Given the description of an element on the screen output the (x, y) to click on. 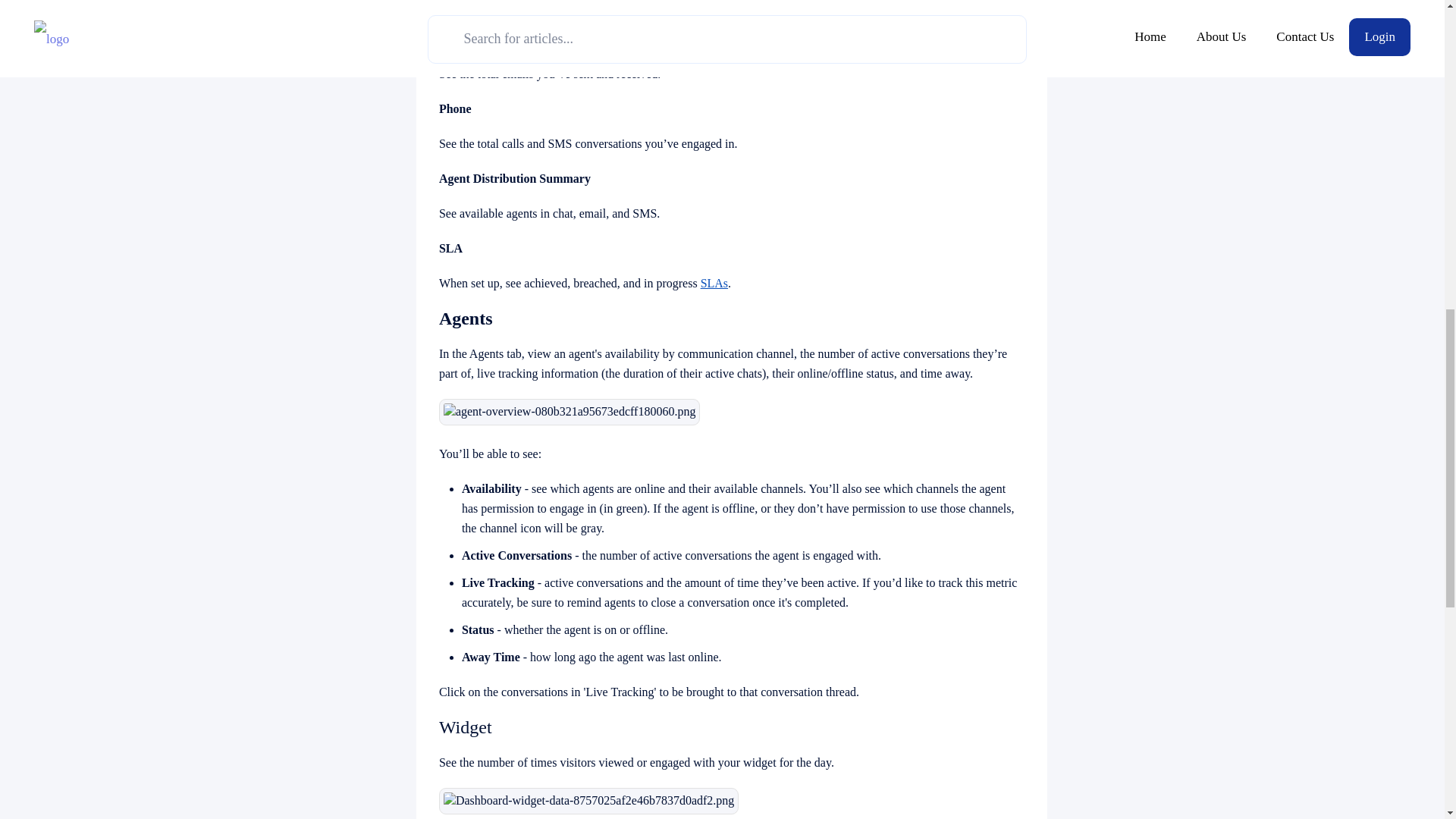
SLAs (714, 282)
Dashboard-widget-data-8757025af2e46b7837d0adf2.png (588, 800)
agent-overview-080b321a95673edcff180060.png (569, 411)
live-dashboard-480fafb0ed298d5a4423ce11.gif (564, 5)
